Given the description of an element on the screen output the (x, y) to click on. 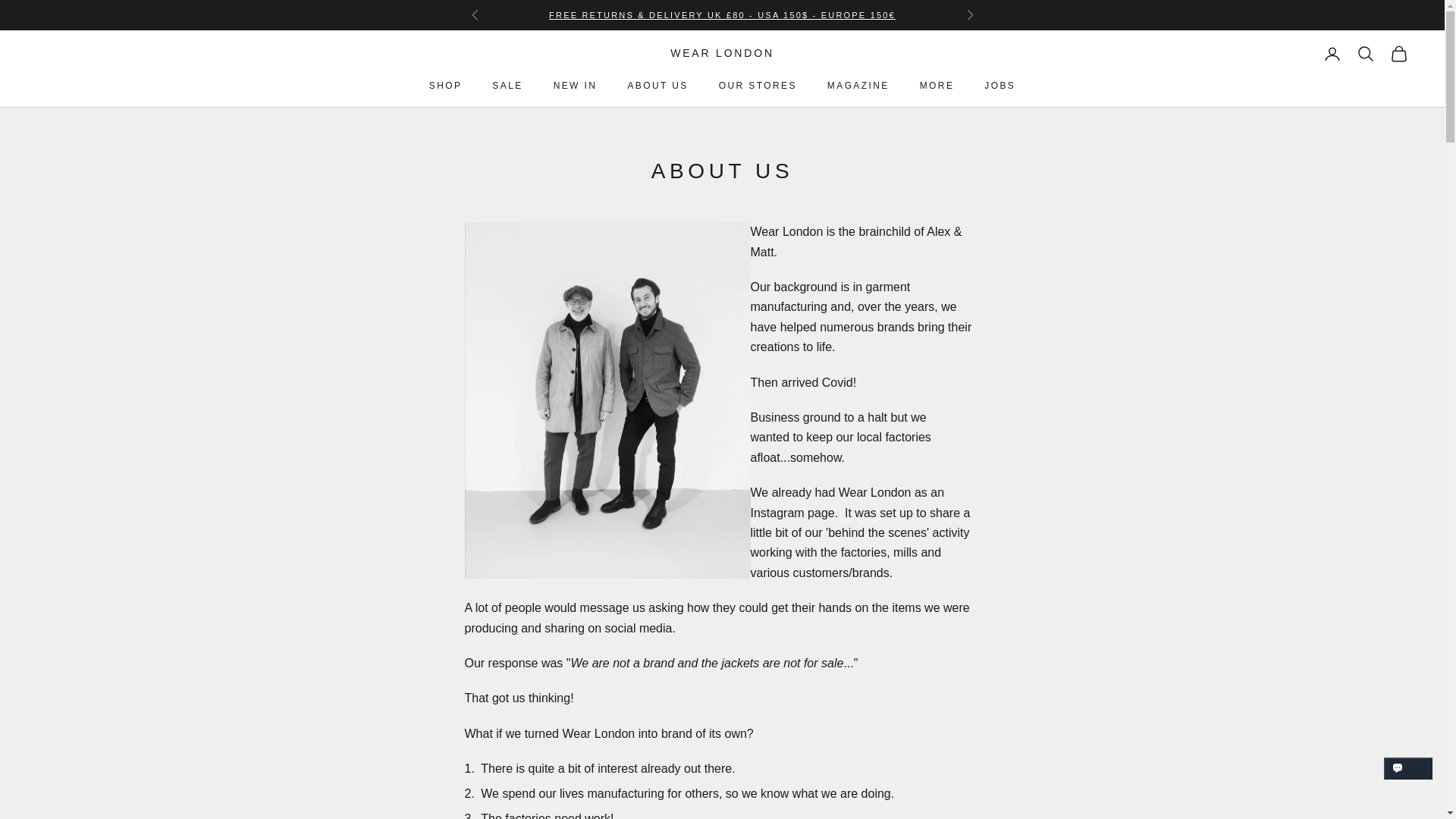
WEAR LONDON (721, 54)
Shopify online store chat (1408, 781)
Latest Arrivals (721, 14)
